Given the description of an element on the screen output the (x, y) to click on. 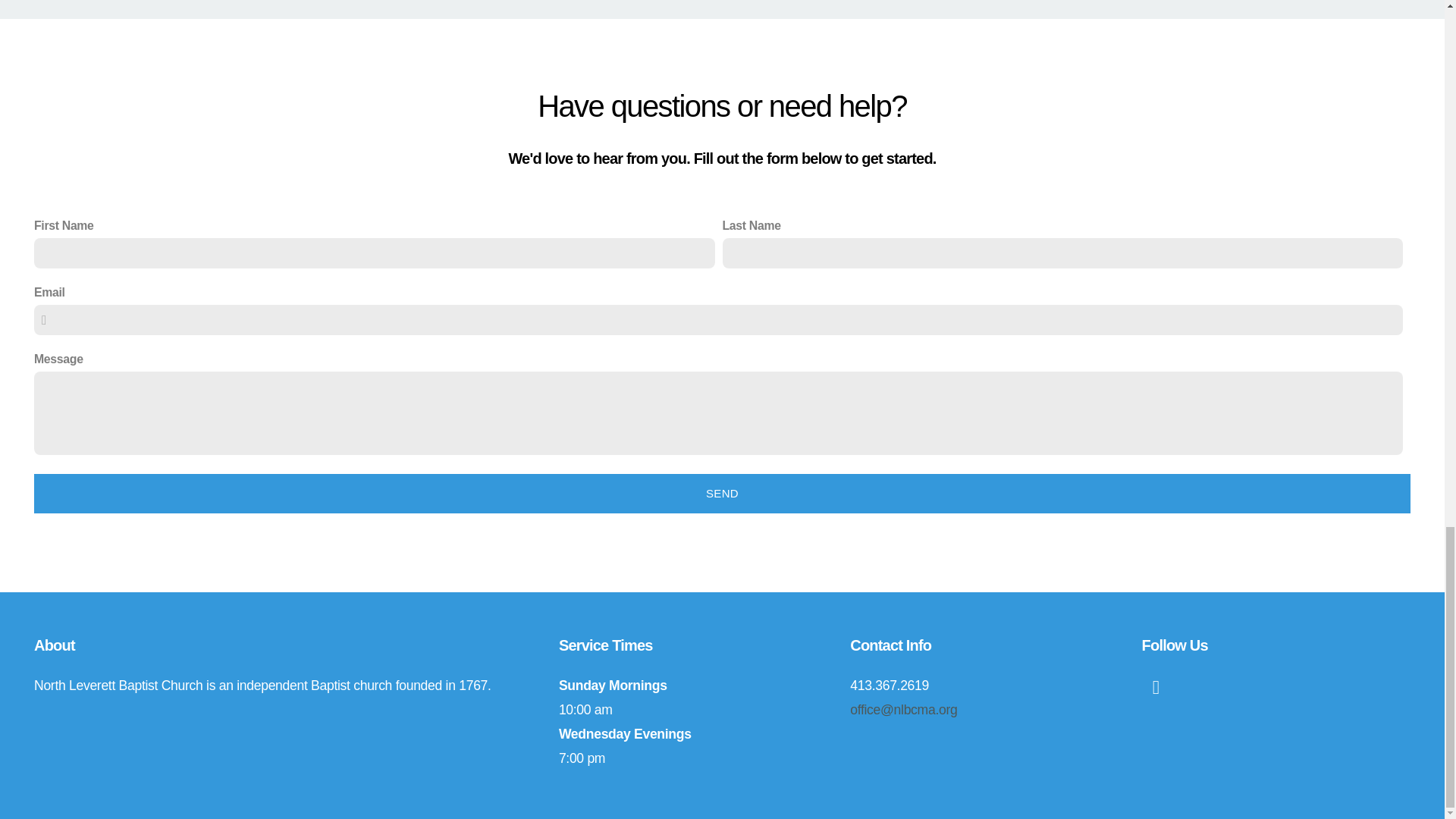
SEND (721, 493)
